Given the description of an element on the screen output the (x, y) to click on. 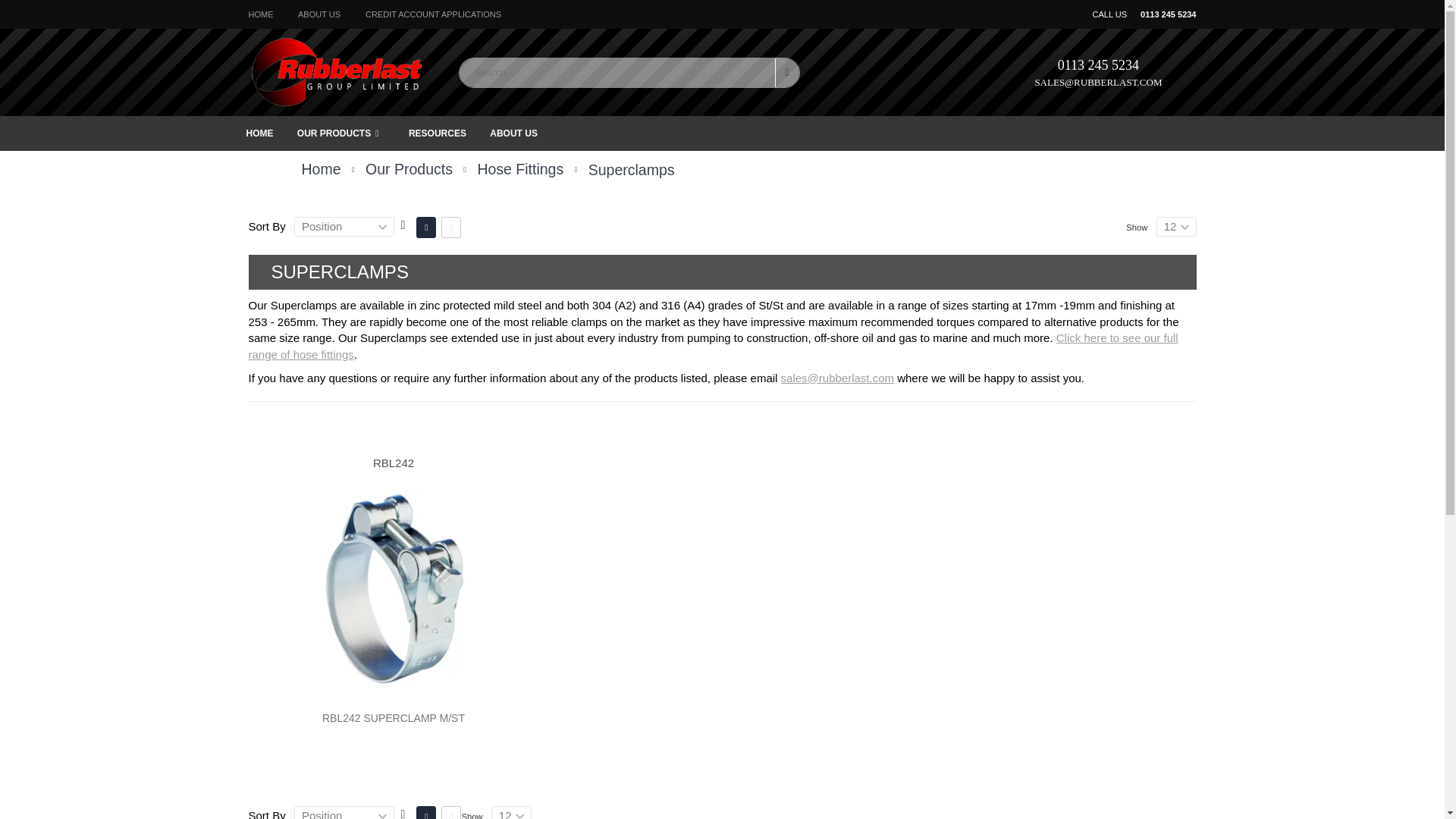
Rubberlast Group Limited logo (336, 72)
Home (320, 169)
Hose Fittings (520, 169)
Hose Fittings (712, 345)
ABOUT US (513, 133)
Email Us! (836, 377)
Click here to see our full range of hose fittings (712, 345)
HOME (260, 13)
Grid (425, 227)
RESOURCES (437, 133)
List (451, 812)
ABOUT US (319, 13)
CREDIT ACCOUNT APPLICATIONS (432, 13)
HOME (258, 133)
Go to Home Page (320, 169)
